Given the description of an element on the screen output the (x, y) to click on. 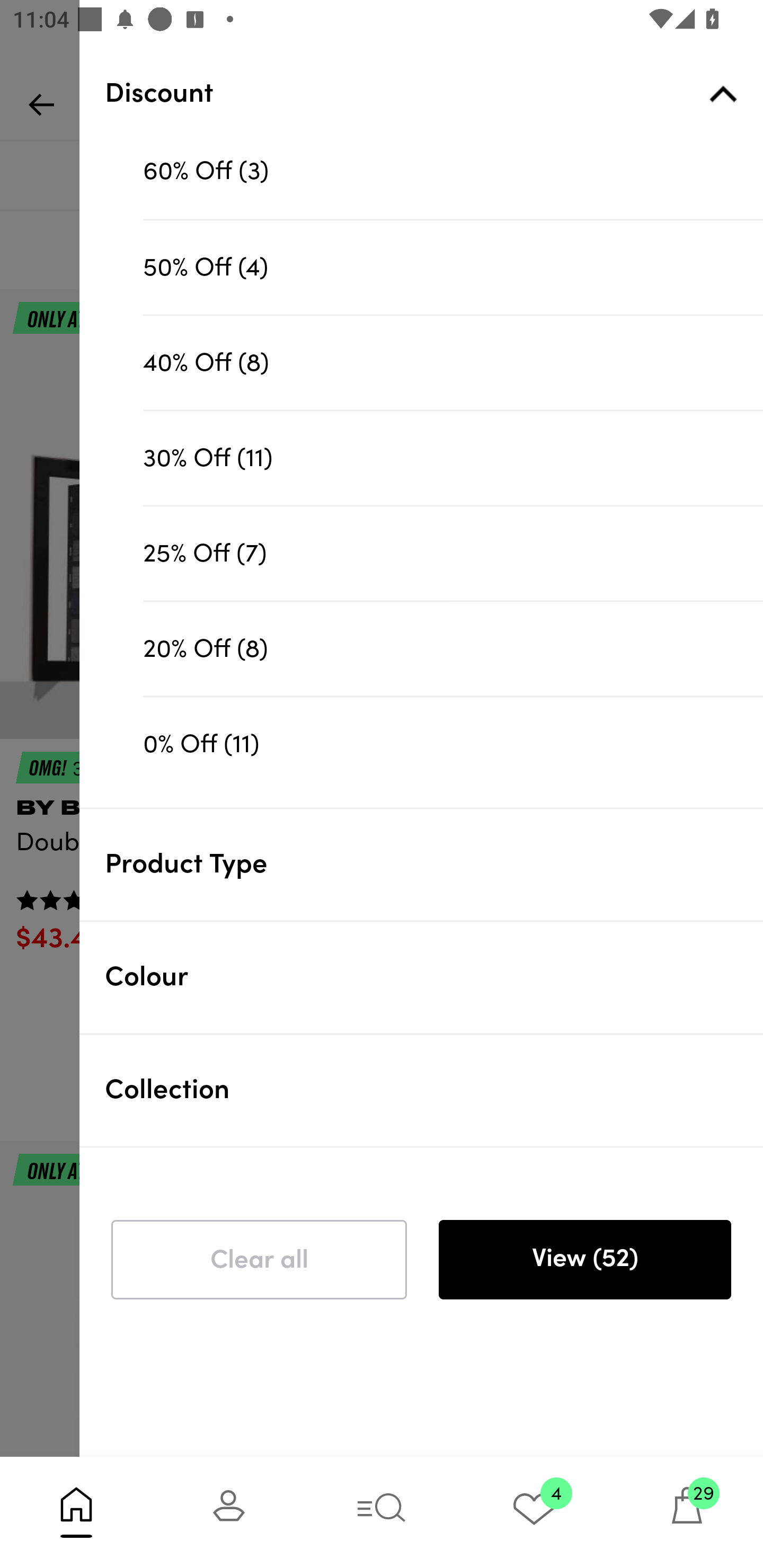
60% Off (3) (453, 171)
50% Off (4) (453, 267)
40% Off (8) (453, 362)
30% Off (11) (453, 456)
25% Off (7) (453, 552)
20% Off (8) (453, 648)
0% Off (11) (453, 743)
Product Type (434, 864)
Colour (434, 977)
Collection (434, 1090)
Clear all (258, 1259)
View (52) (584, 1259)
4 (533, 1512)
29 (686, 1512)
